Given the description of an element on the screen output the (x, y) to click on. 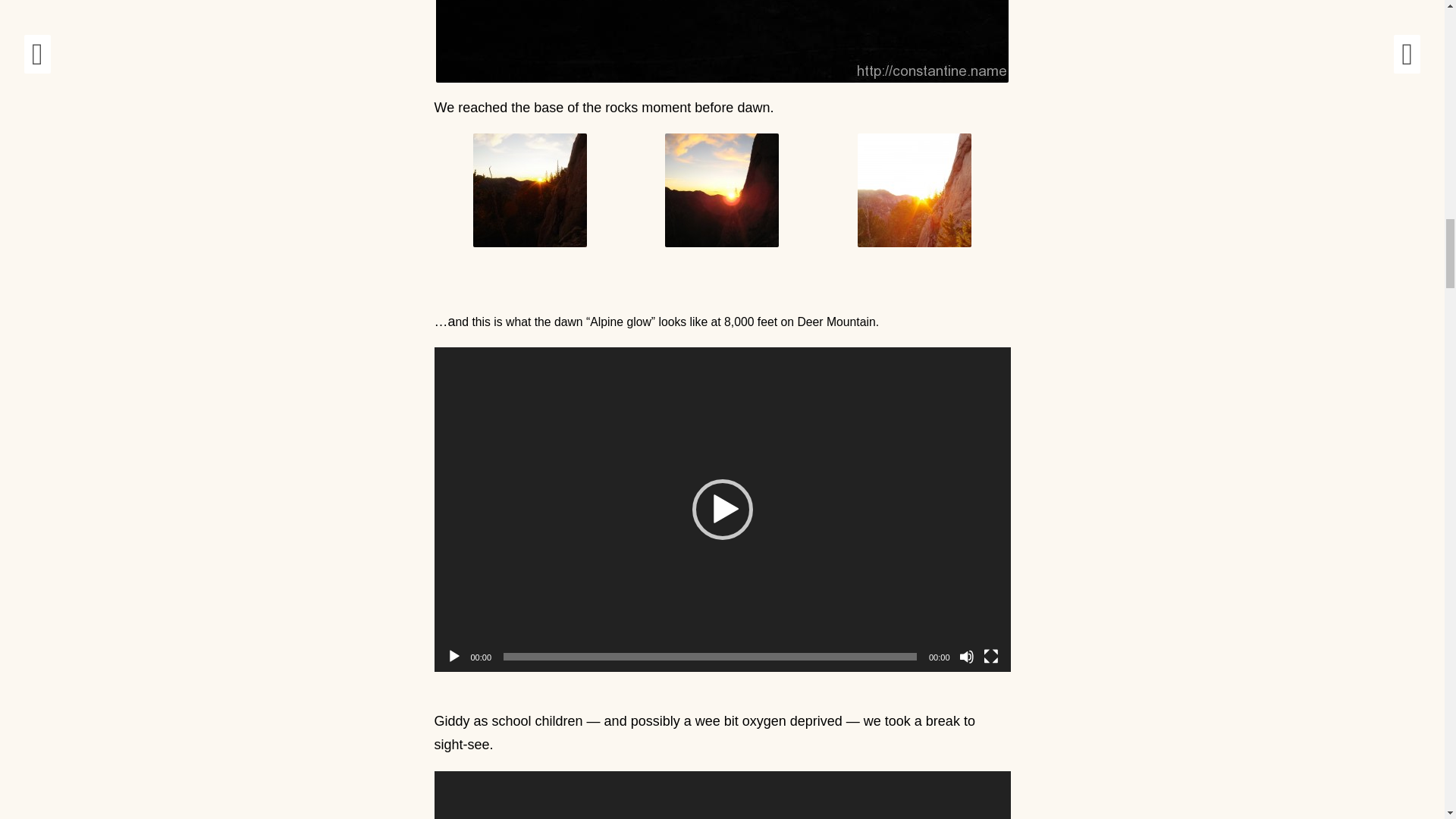
Fullscreen (989, 656)
Mute (966, 656)
Play (453, 656)
